Given the description of an element on the screen output the (x, y) to click on. 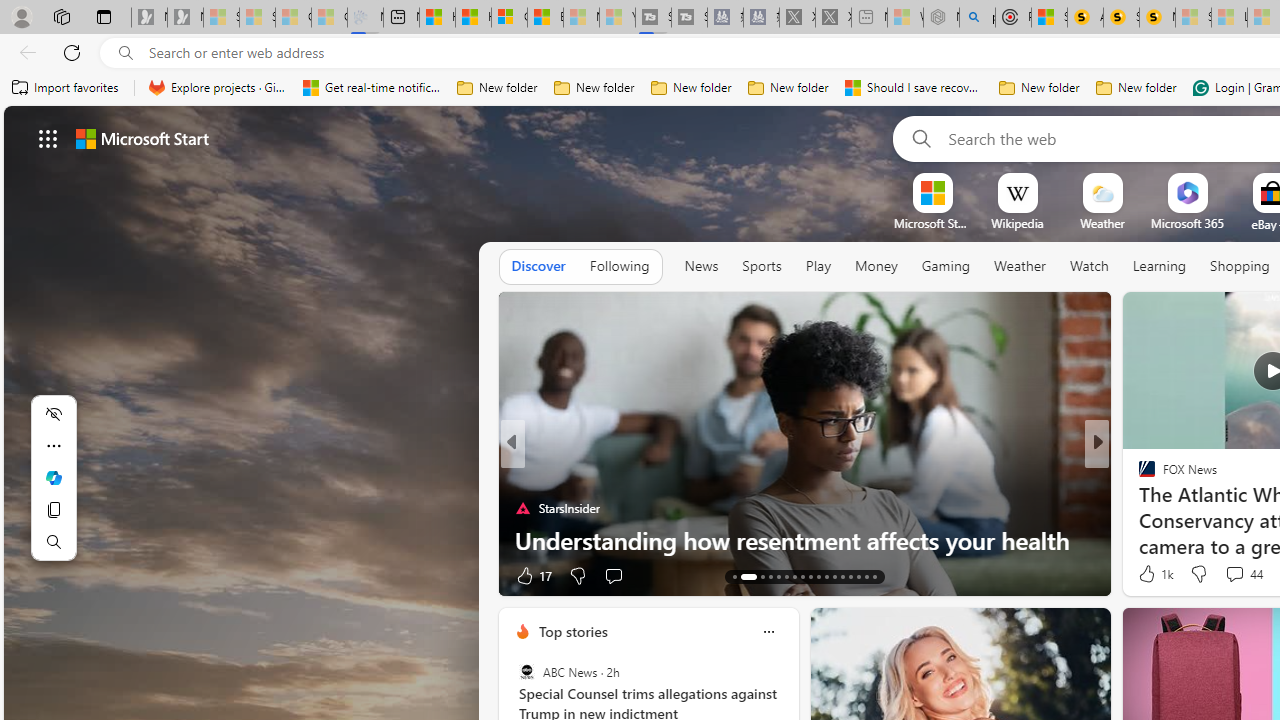
5 Like (1145, 574)
86 Like (1149, 574)
Mini menu on text selection (53, 478)
21 Like (1149, 574)
View comments 77 Comment (1244, 574)
CNBC (1138, 475)
AutomationID: tab-23 (825, 576)
View comments 5 Comment (1234, 574)
View comments 77 Comment (1234, 575)
Newsletter Sign Up - Sleeping (185, 17)
New tab - Sleeping (869, 17)
